Given the description of an element on the screen output the (x, y) to click on. 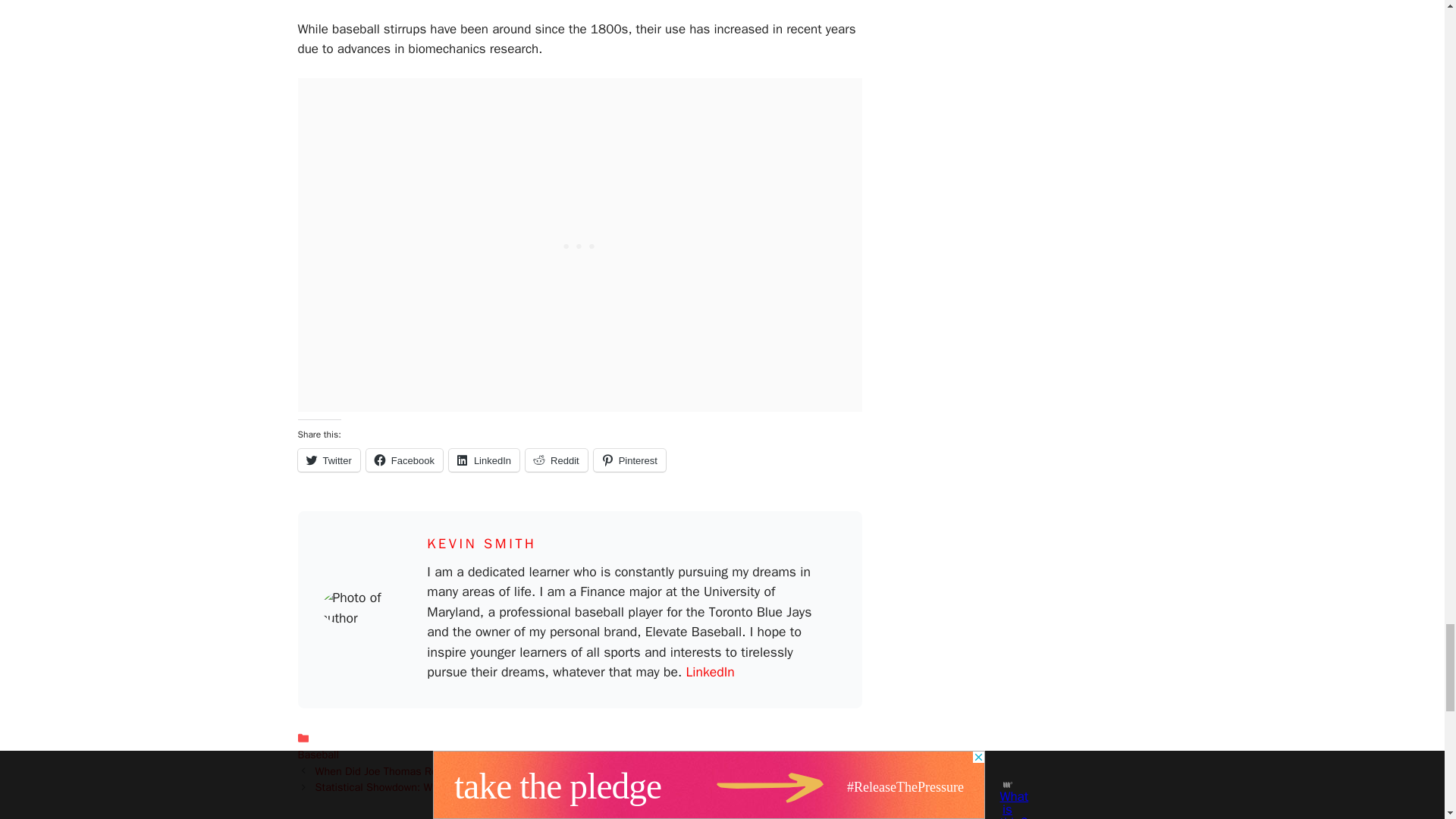
Click to share on Reddit (556, 459)
Click to share on Twitter (328, 459)
Click to share on Pinterest (629, 459)
Click to share on Facebook (404, 459)
Click to share on LinkedIn (483, 459)
Twitter (328, 459)
When Did Joe Thomas Retire? (386, 771)
LinkedIn (483, 459)
Reddit (556, 459)
Pinterest (629, 459)
Baseball (317, 754)
KEVIN SMITH (480, 543)
LinkedIn (709, 671)
Categories (579, 745)
Statistical Showdown: What Are the Different Stats in NFL? (455, 786)
